Given the description of an element on the screen output the (x, y) to click on. 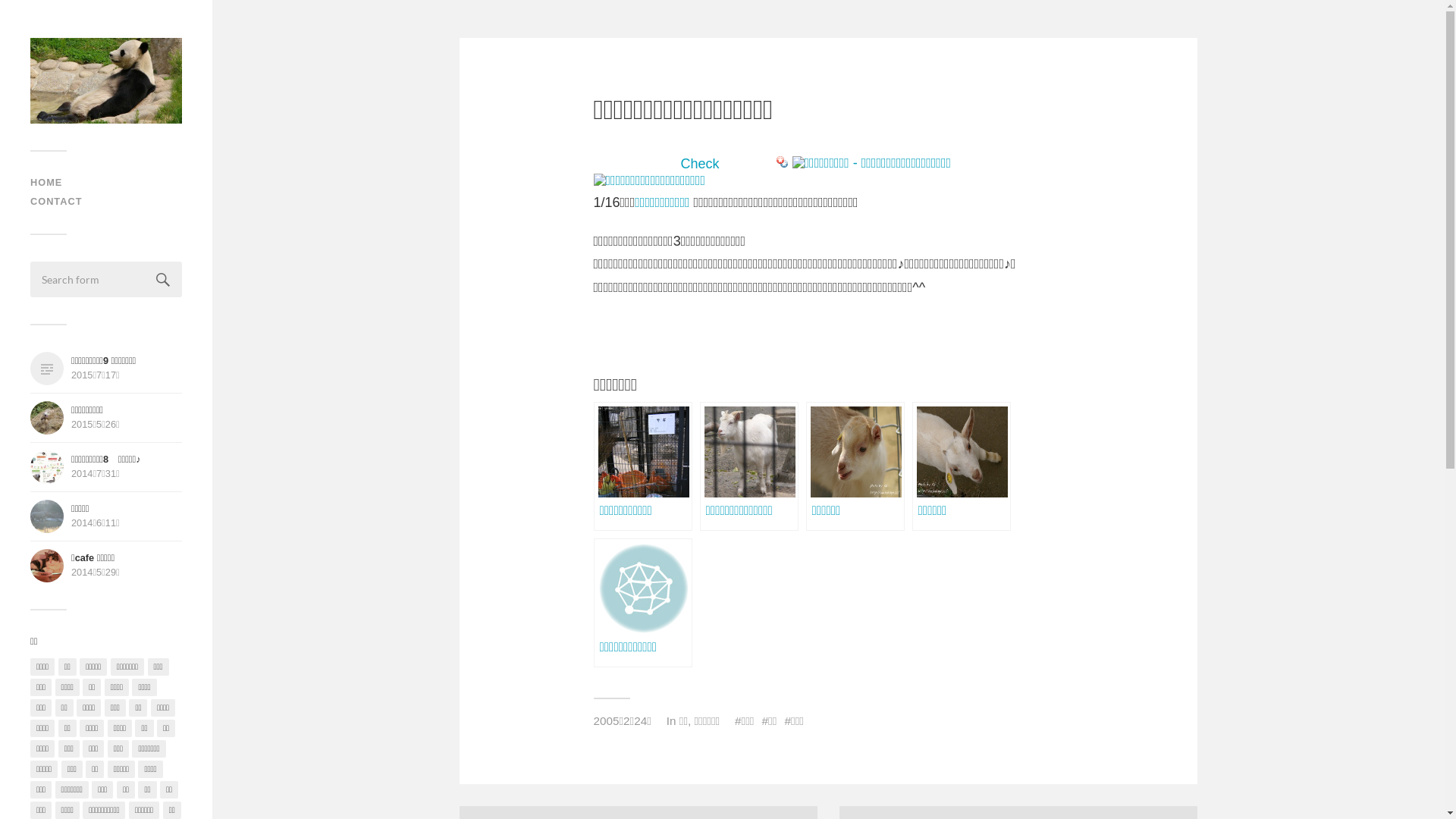
HOME Element type: text (46, 181)
Check Element type: text (699, 163)
Bookmark this on Yahoo Bookmark Element type: hover (782, 162)
CONTACT Element type: text (55, 201)
Bookmark this on Yahoo Bookmark Element type: hover (782, 163)
Advertisement Element type: hover (770, 336)
